Given the description of an element on the screen output the (x, y) to click on. 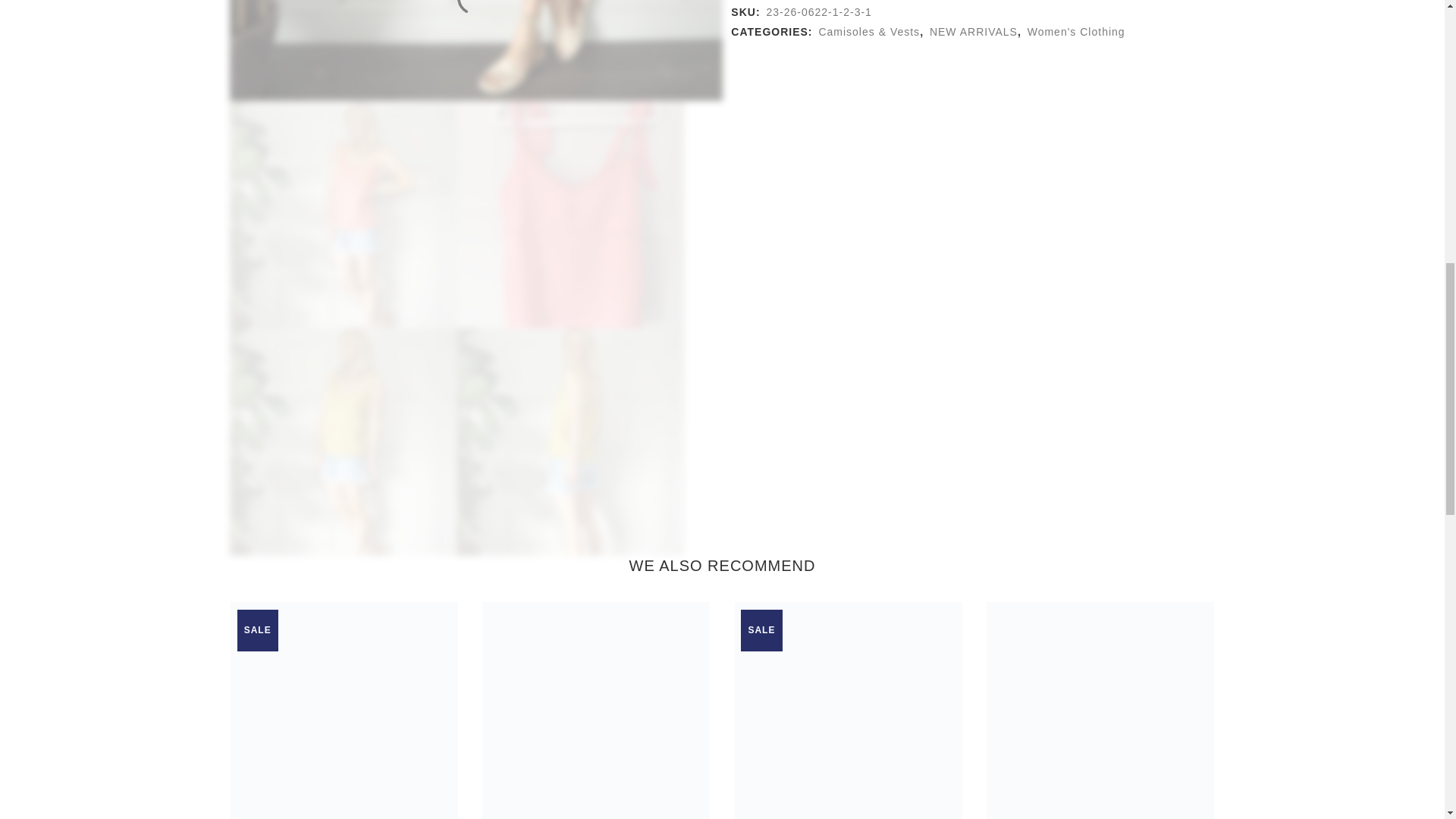
63B411C9-AFD9-4BDF-8714-E1C546926F7D (475, 50)
63B411C9-AFD9-4BDF-8714-E1C546926F7D (342, 214)
D7832237-D878-47A9-AC98-CDCC22DF30CA (342, 442)
028B252C-C6D2-49C1-8460-6EA1FF66E413 (570, 214)
